Given the description of an element on the screen output the (x, y) to click on. 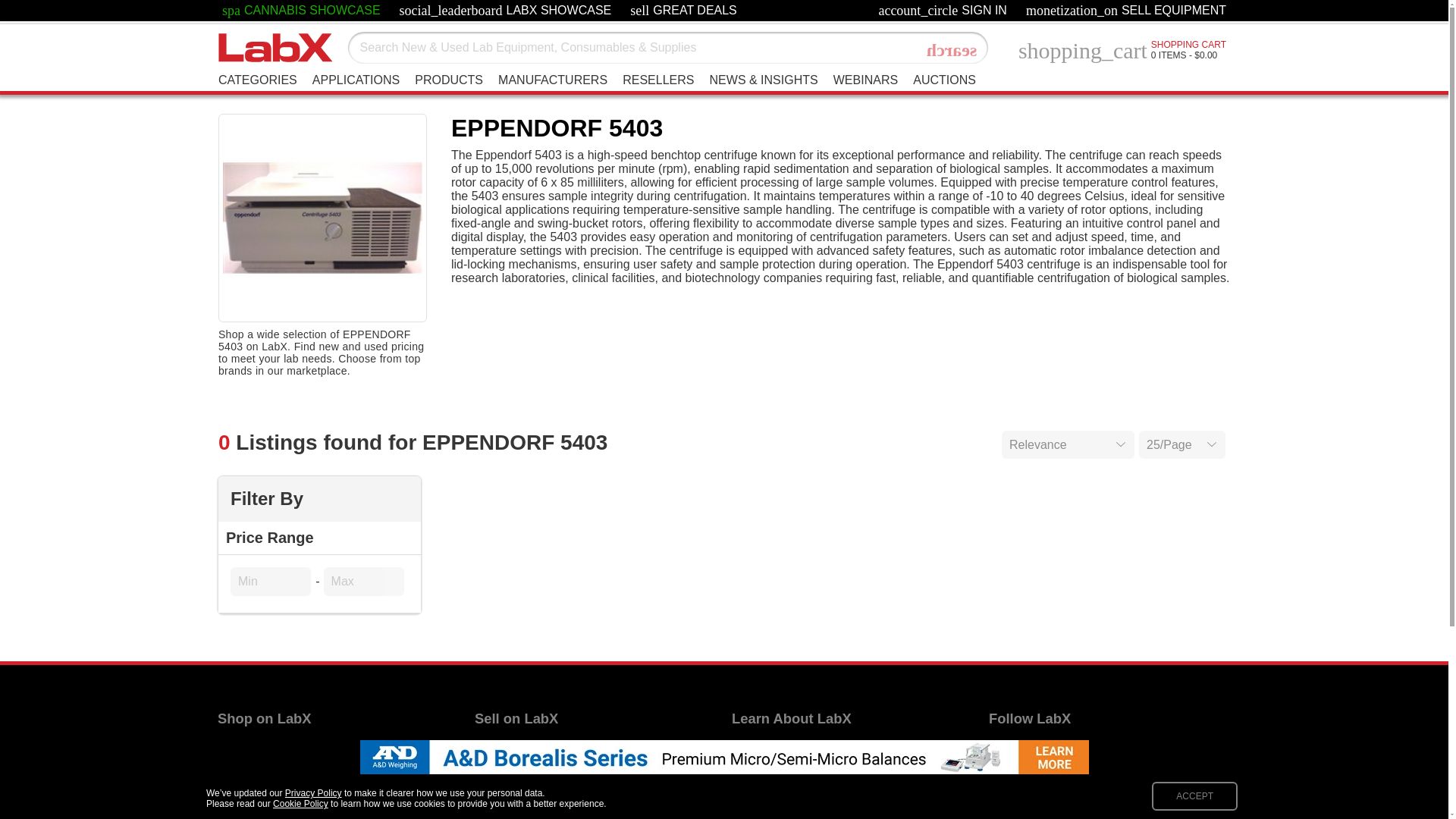
Privacy Policy (770, 812)
Shop by Application (683, 10)
Shop by Product (270, 771)
search (261, 792)
Sell Your Equipment (951, 50)
WEBINARS (528, 749)
AUCTIONS (865, 80)
Help (943, 80)
Contact Us (744, 749)
